Given the description of an element on the screen output the (x, y) to click on. 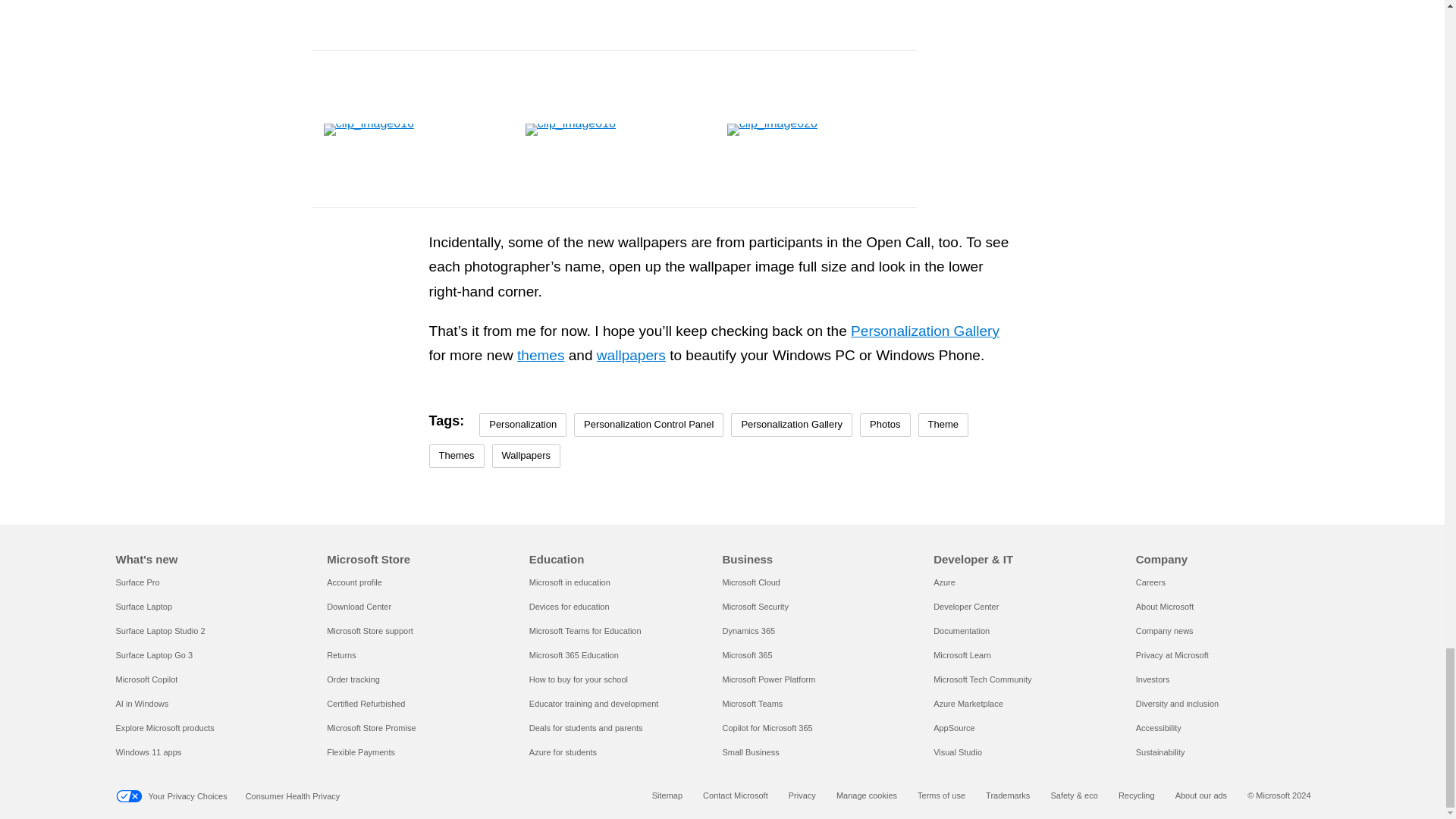
Photos Tag (885, 424)
Personalization Gallery Tag (790, 424)
Personalization Control Panel Tag (648, 424)
Personalization Tag (522, 424)
